Given the description of an element on the screen output the (x, y) to click on. 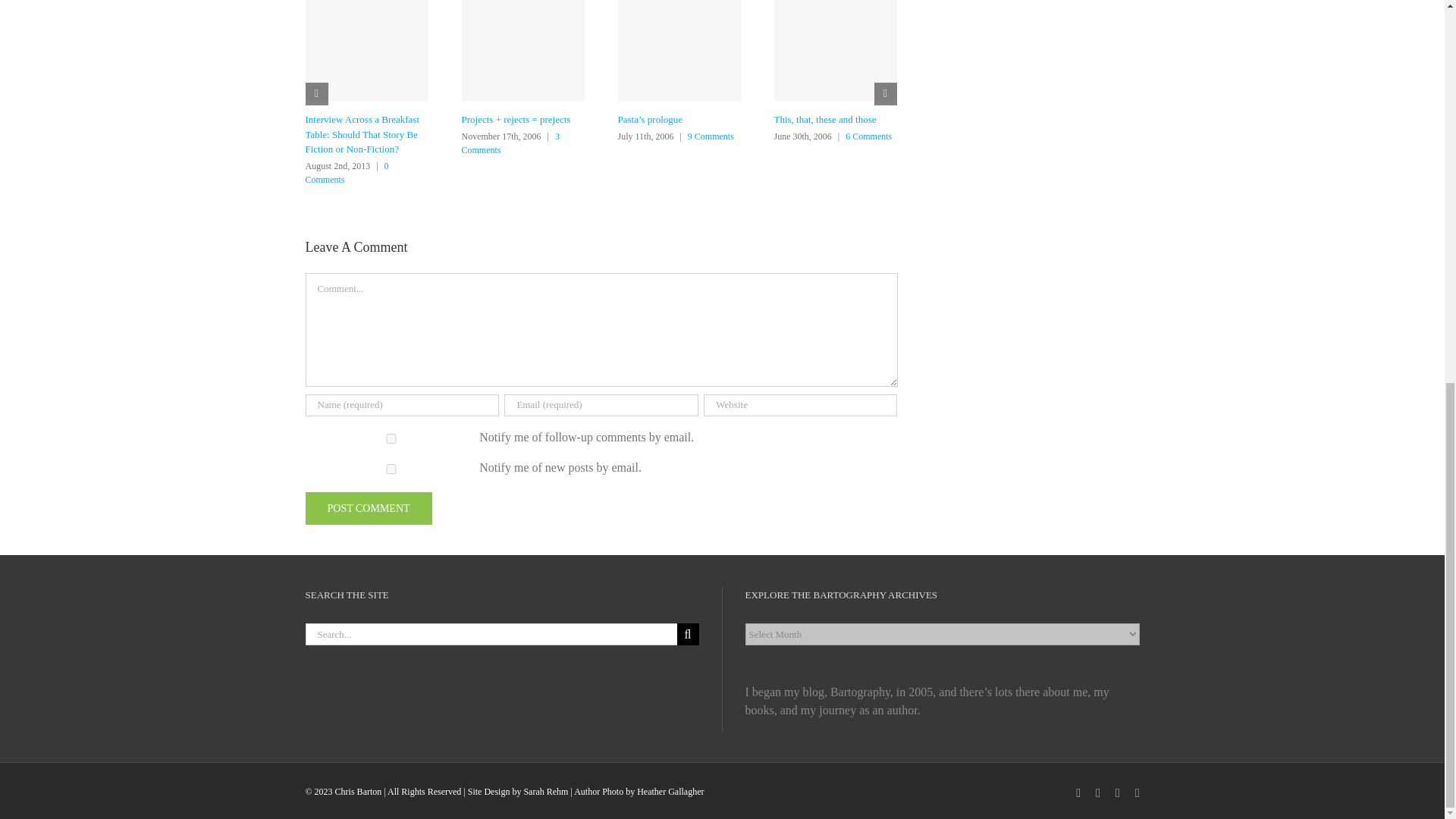
subscribe (390, 469)
subscribe (390, 438)
Post Comment (367, 508)
